Given the description of an element on the screen output the (x, y) to click on. 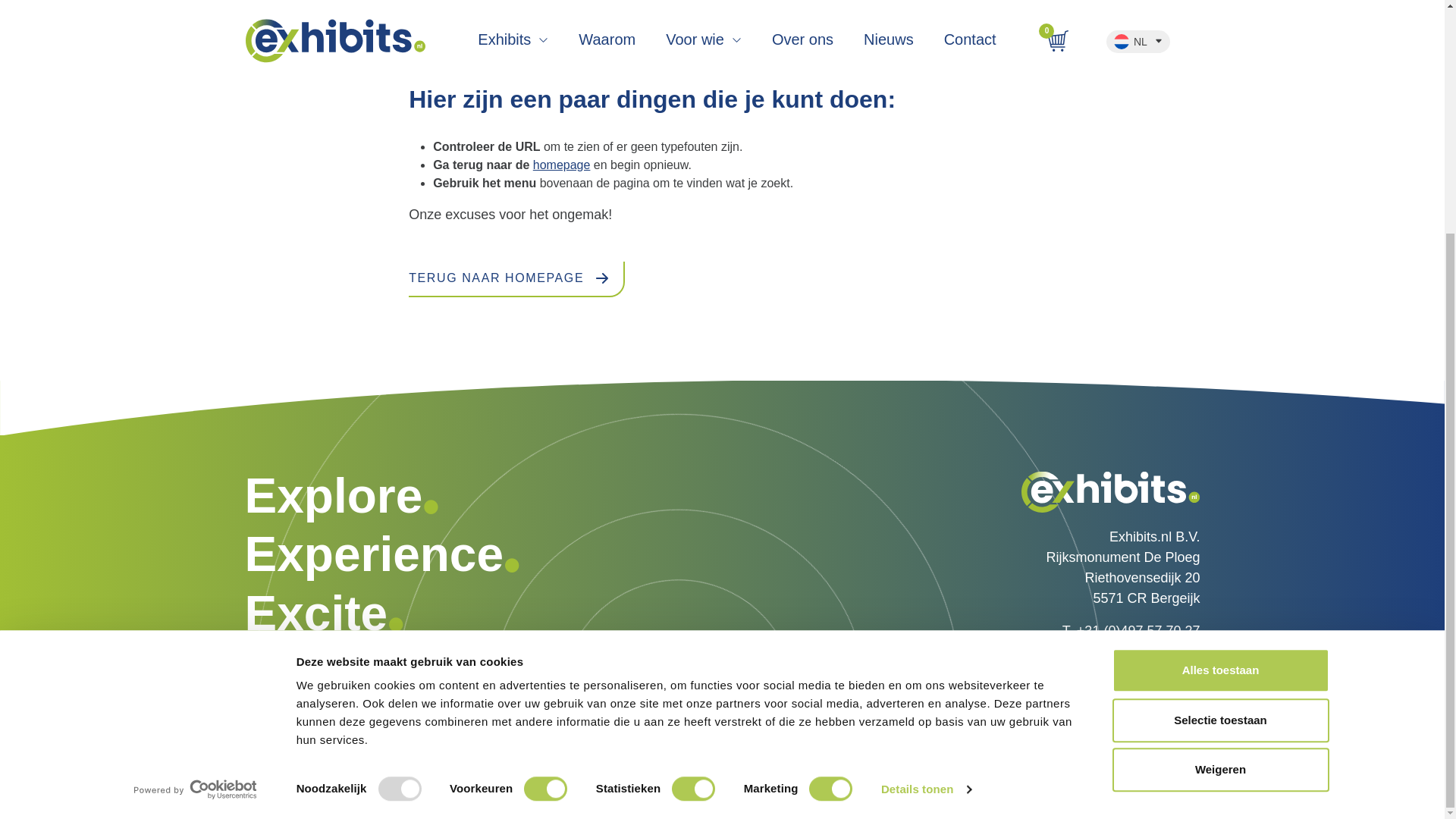
Selectie toestaan (1219, 402)
Alles toestaan (1219, 352)
Details tonen (925, 471)
Weigeren (1219, 451)
